Given the description of an element on the screen output the (x, y) to click on. 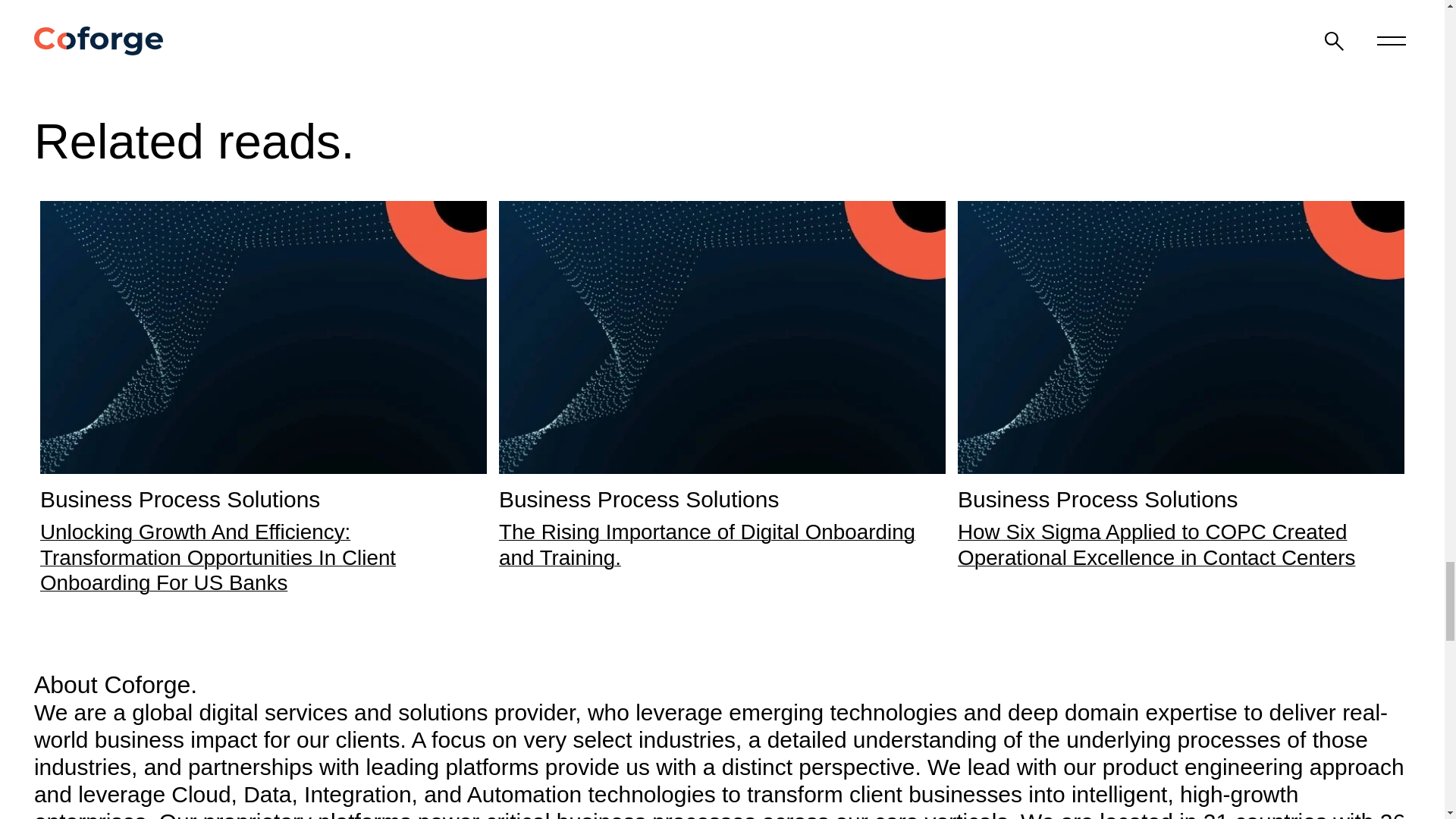
Business Process Solutions (180, 498)
Copy link (1155, 4)
Connect with our experts (967, 4)
